Given the description of an element on the screen output the (x, y) to click on. 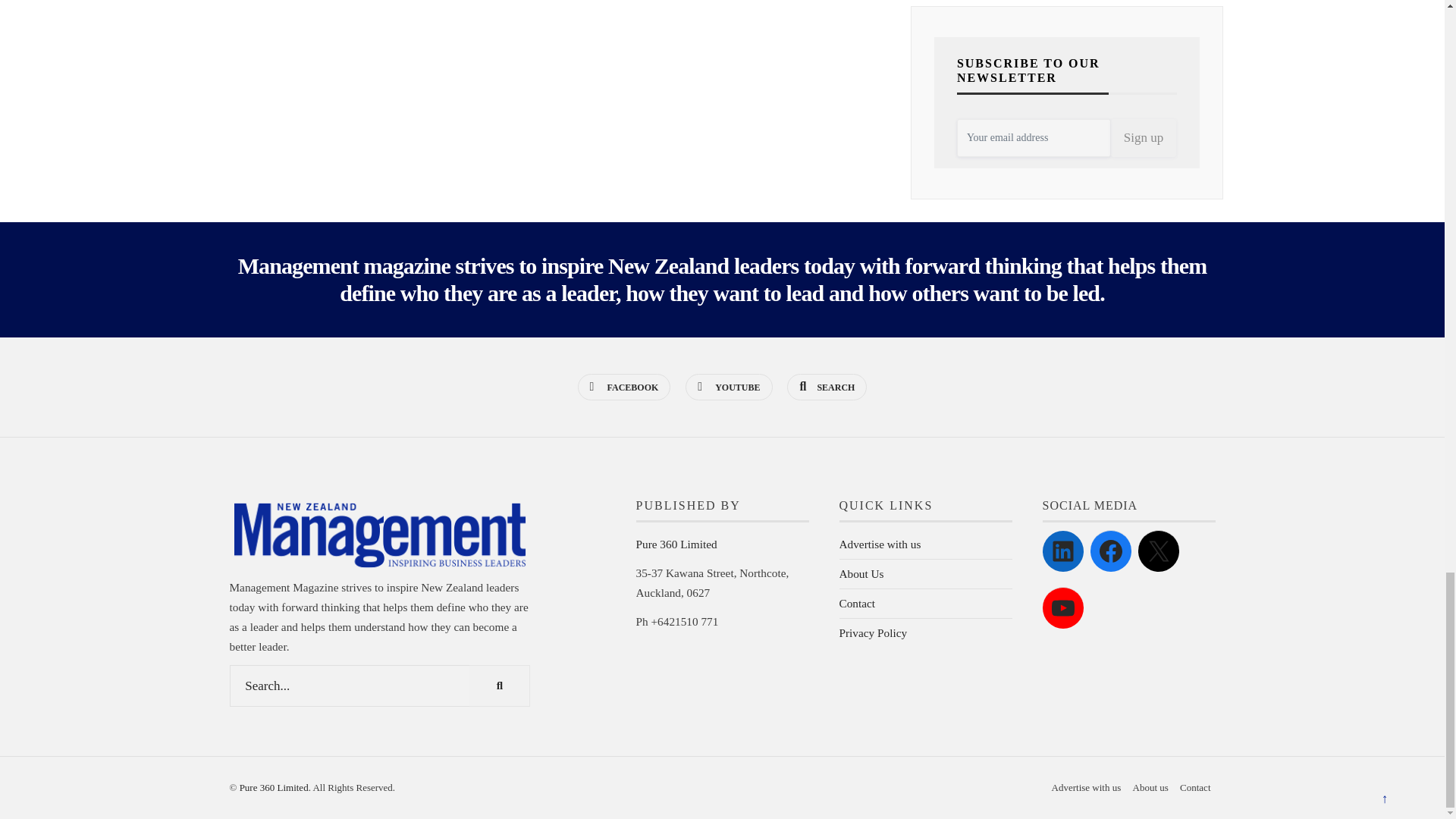
Sign up (1143, 137)
Search... (378, 685)
